Given the description of an element on the screen output the (x, y) to click on. 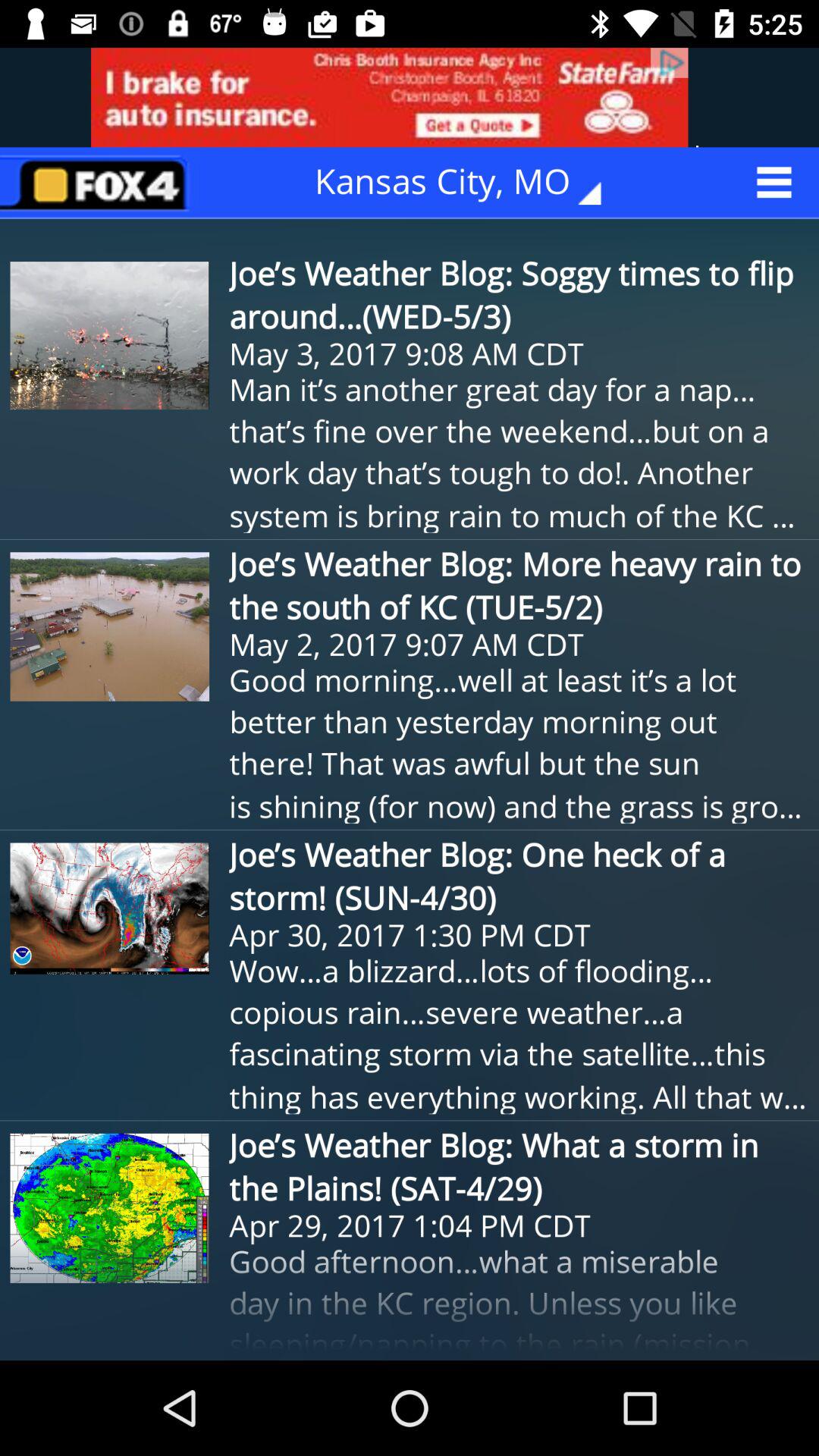
view advertisement (409, 97)
